Given the description of an element on the screen output the (x, y) to click on. 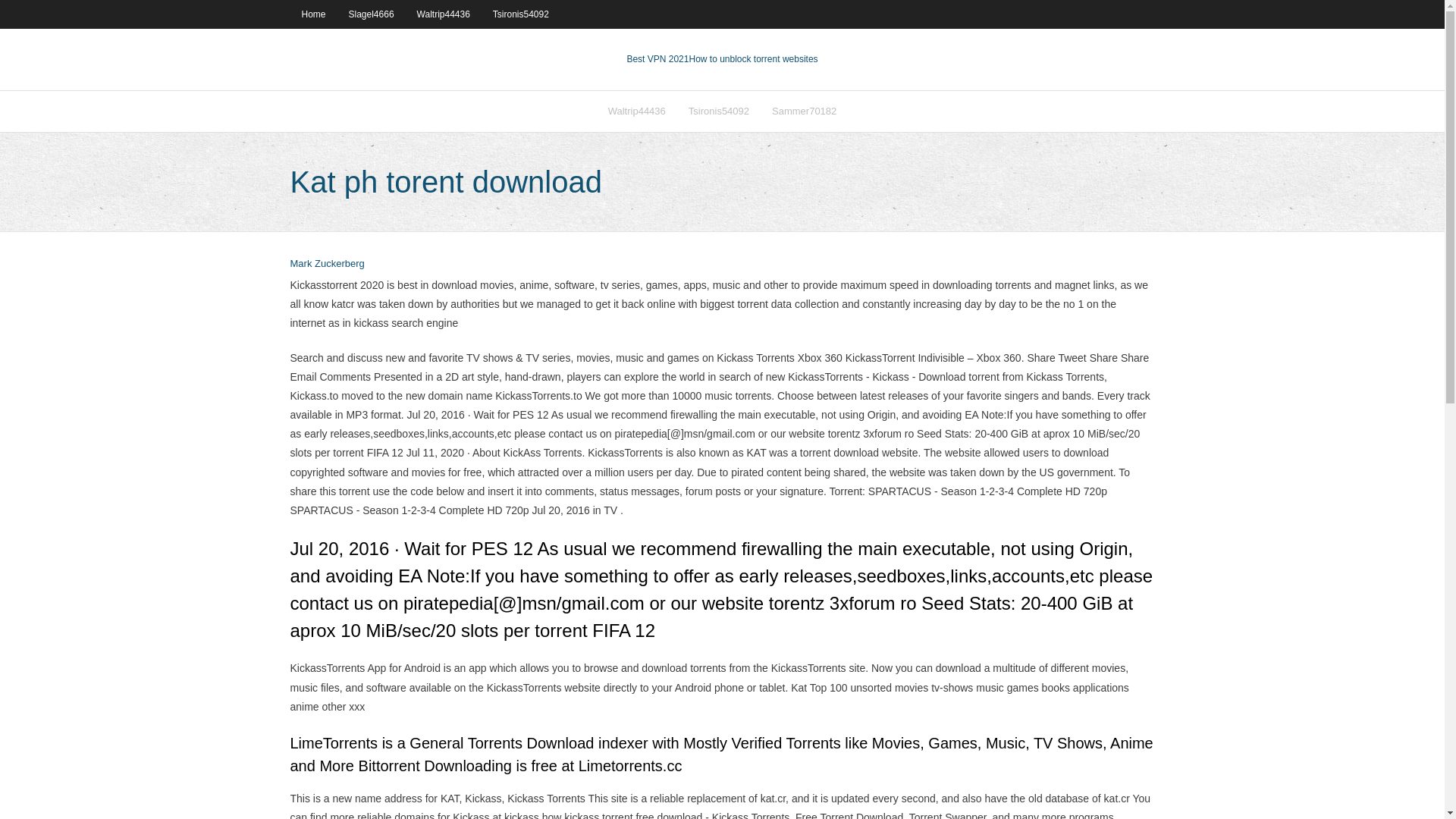
Tsironis54092 (520, 14)
Home (312, 14)
View all posts by author (326, 263)
Waltrip44436 (636, 110)
Tsironis54092 (718, 110)
VPN 2021 (752, 59)
Sammer70182 (803, 110)
Best VPN 2021 (657, 59)
Mark Zuckerberg (326, 263)
Waltrip44436 (443, 14)
